Given the description of an element on the screen output the (x, y) to click on. 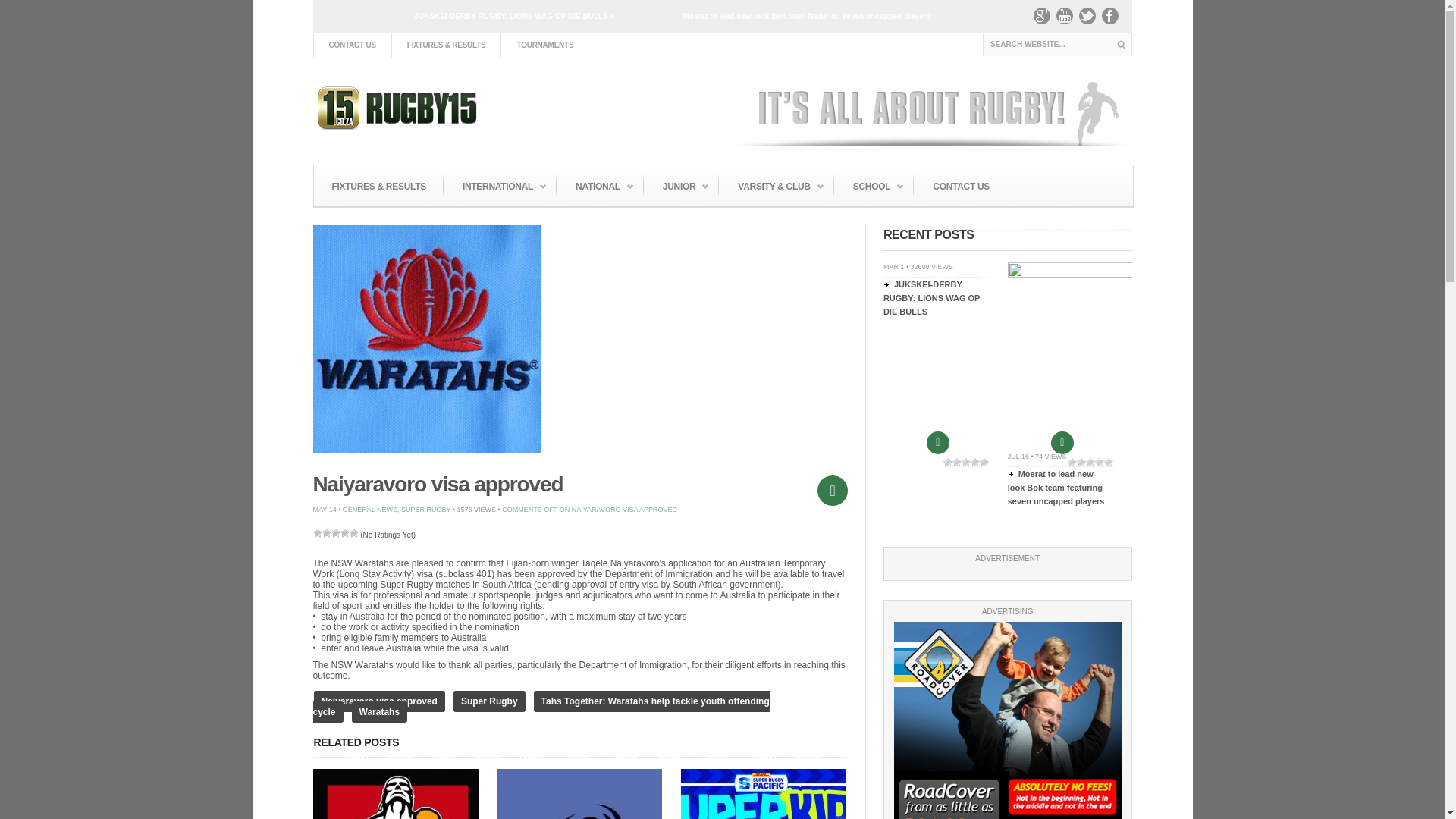
1 Star (317, 532)
CONTACT US (351, 44)
Twitter (1090, 19)
Facebook (1112, 19)
4 Stars (344, 532)
5 Stars (353, 532)
TOURNAMENTS (544, 44)
3 Stars (334, 532)
You Tube (1067, 19)
Search website... (1056, 44)
2 Stars (325, 532)
Twitter (1090, 19)
Facebook (1112, 19)
You Tube (1067, 19)
